Given the description of an element on the screen output the (x, y) to click on. 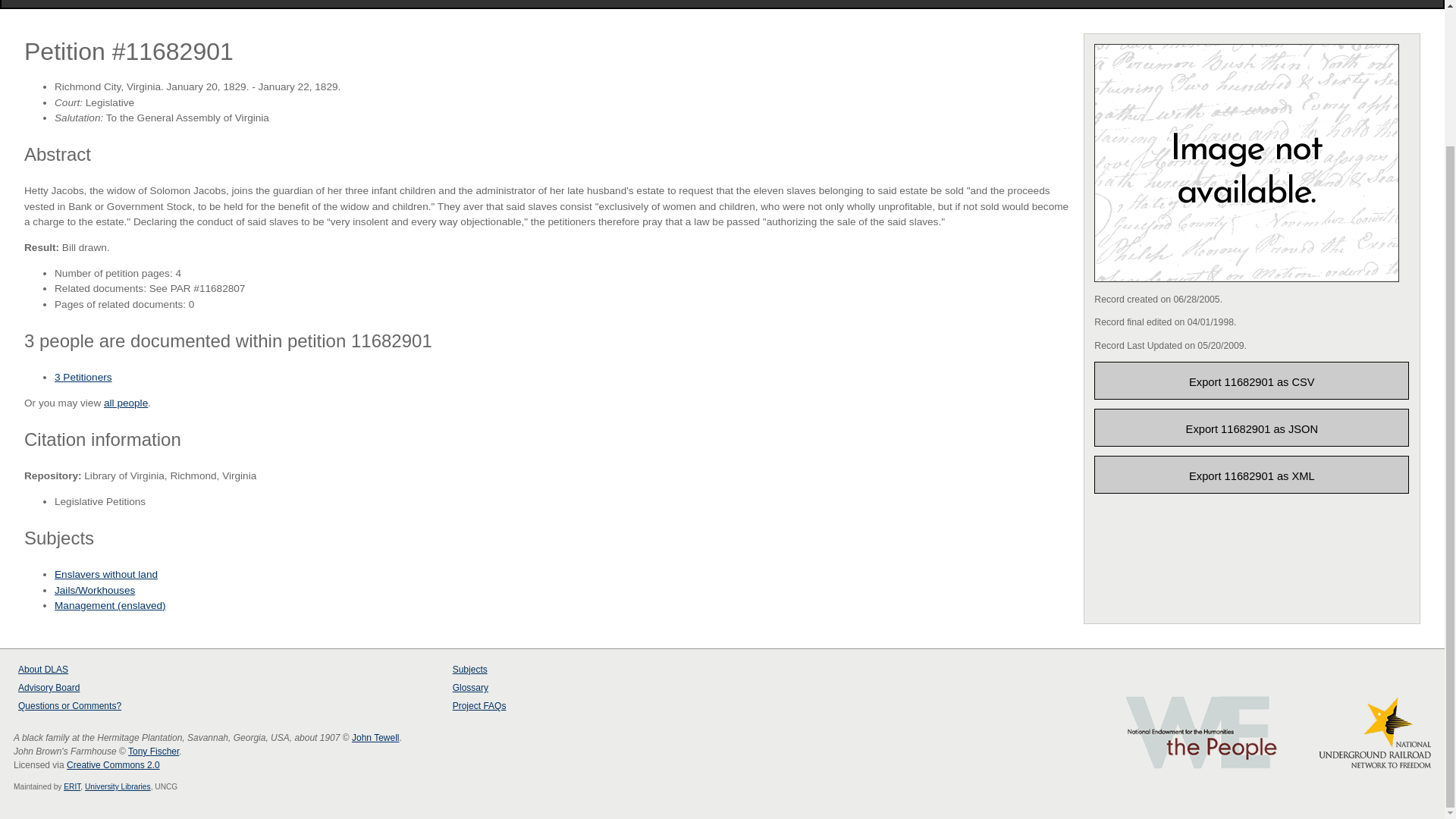
export record information as csv (1251, 380)
Electronic Resources and Information Technology (72, 786)
Export 11682901 as JSON (1251, 427)
Tony Fischer (153, 751)
Advisory Board (48, 687)
Creative Commons 2.0 (113, 765)
3 Petitioners (83, 377)
University Libraries (117, 786)
Project FAQs (746, 3)
view 3 petitioners in this record (83, 377)
Frequently Asked Questions (494, 706)
no full image (1246, 162)
export record information as json (1251, 427)
Project FAQs (479, 706)
About DLAS (42, 669)
